Given the description of an element on the screen output the (x, y) to click on. 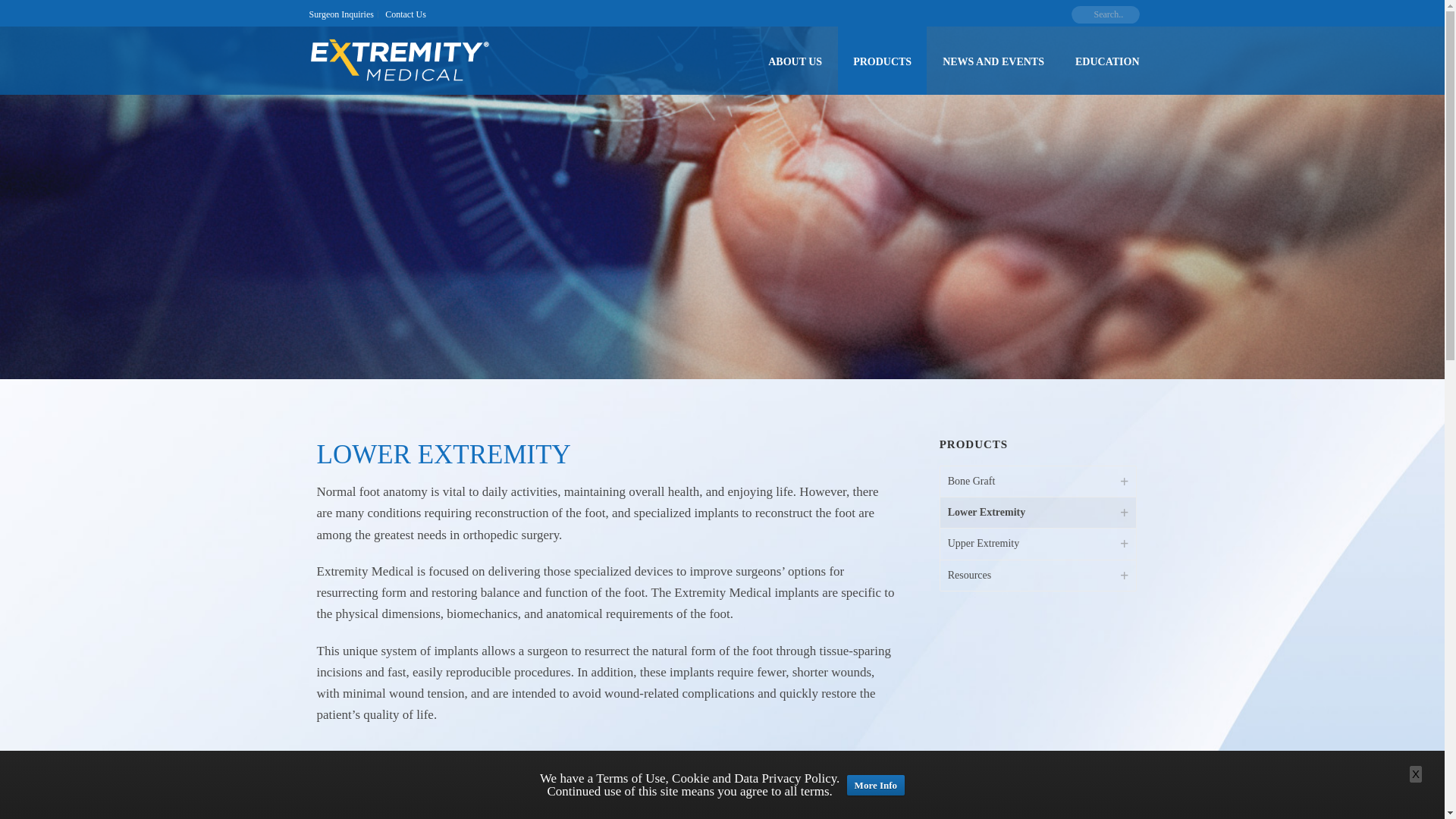
PRODUCTS (882, 60)
PRODUCTS (882, 60)
EDUCATION (1106, 60)
Surgeon Inquiries (340, 14)
axisprod (605, 791)
ABOUT US (794, 60)
alignxprod (412, 791)
ABOUT US (794, 60)
Contact Us (405, 14)
beaming-systemprod (798, 791)
NEWS AND EVENTS (993, 60)
